Given the description of an element on the screen output the (x, y) to click on. 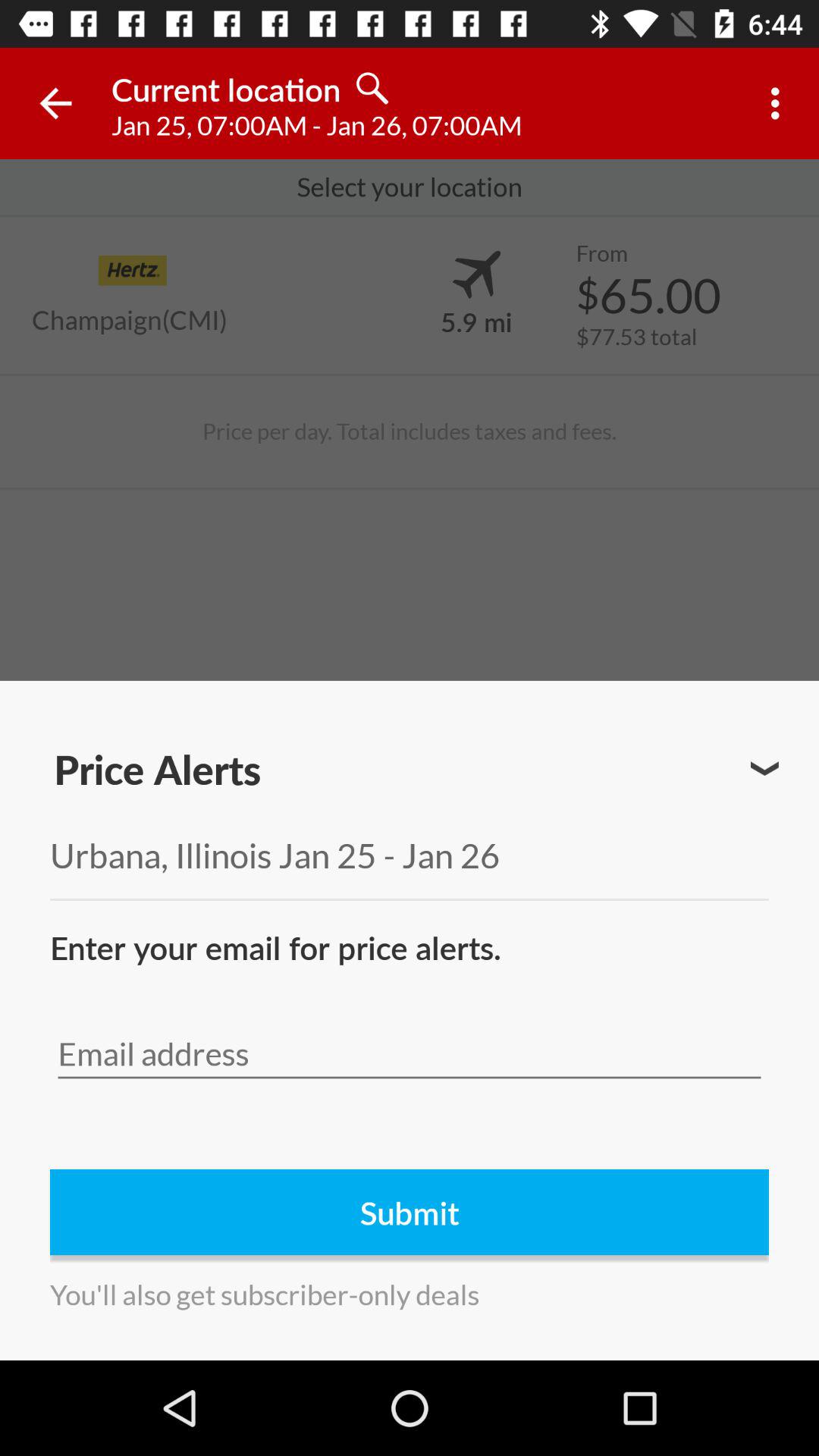
expand field (764, 768)
